Given the description of an element on the screen output the (x, y) to click on. 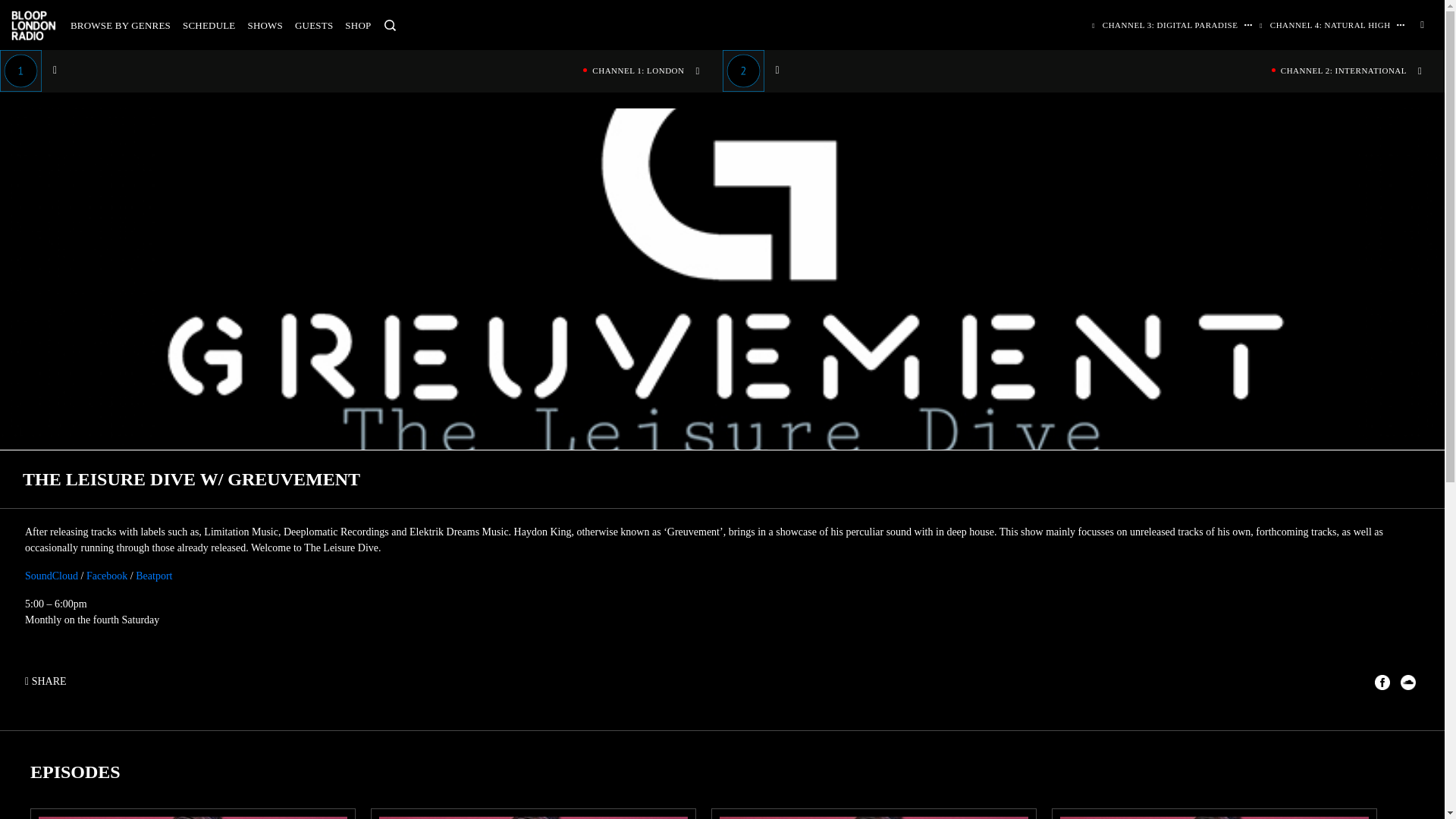
   CHANNEL 3: DIGITAL PARADISE (1166, 24)
GUESTS (313, 25)
Beatport (153, 575)
   CHANNEL 4: NATURAL HIGH (1326, 24)
      CHANNEL 1: LONDON (361, 70)
SCHEDULE (208, 25)
Facebook (106, 575)
SoundCloud (51, 575)
BROWSE BY GENRES (120, 25)
SHOP (358, 25)
